Given the description of an element on the screen output the (x, y) to click on. 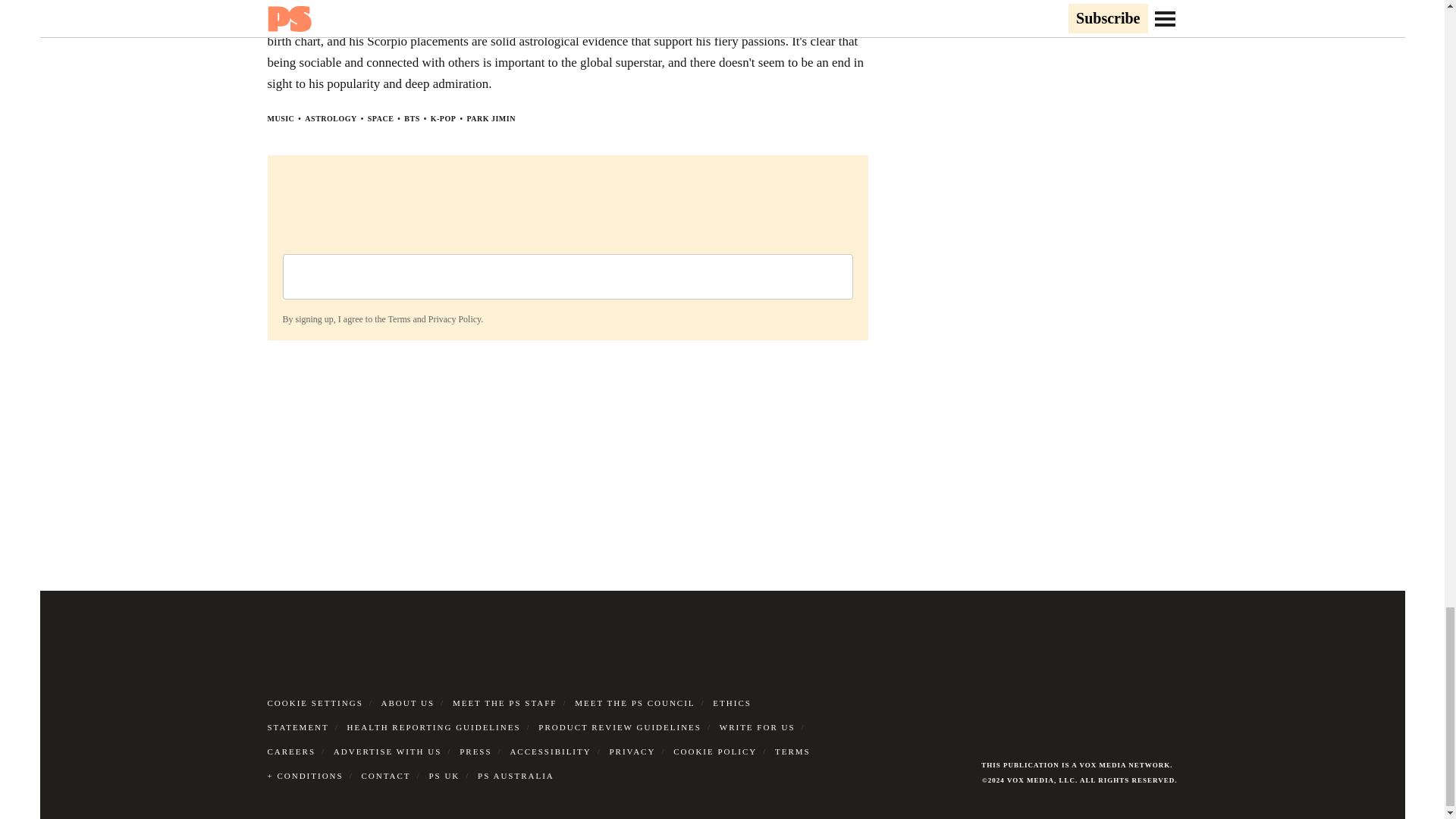
SPACE (381, 118)
PARK JIMIN (490, 118)
Terms (399, 318)
K-POP (443, 118)
MUSIC (280, 118)
BTS (411, 118)
Privacy Policy. (455, 318)
ASTROLOGY (330, 118)
